Given the description of an element on the screen output the (x, y) to click on. 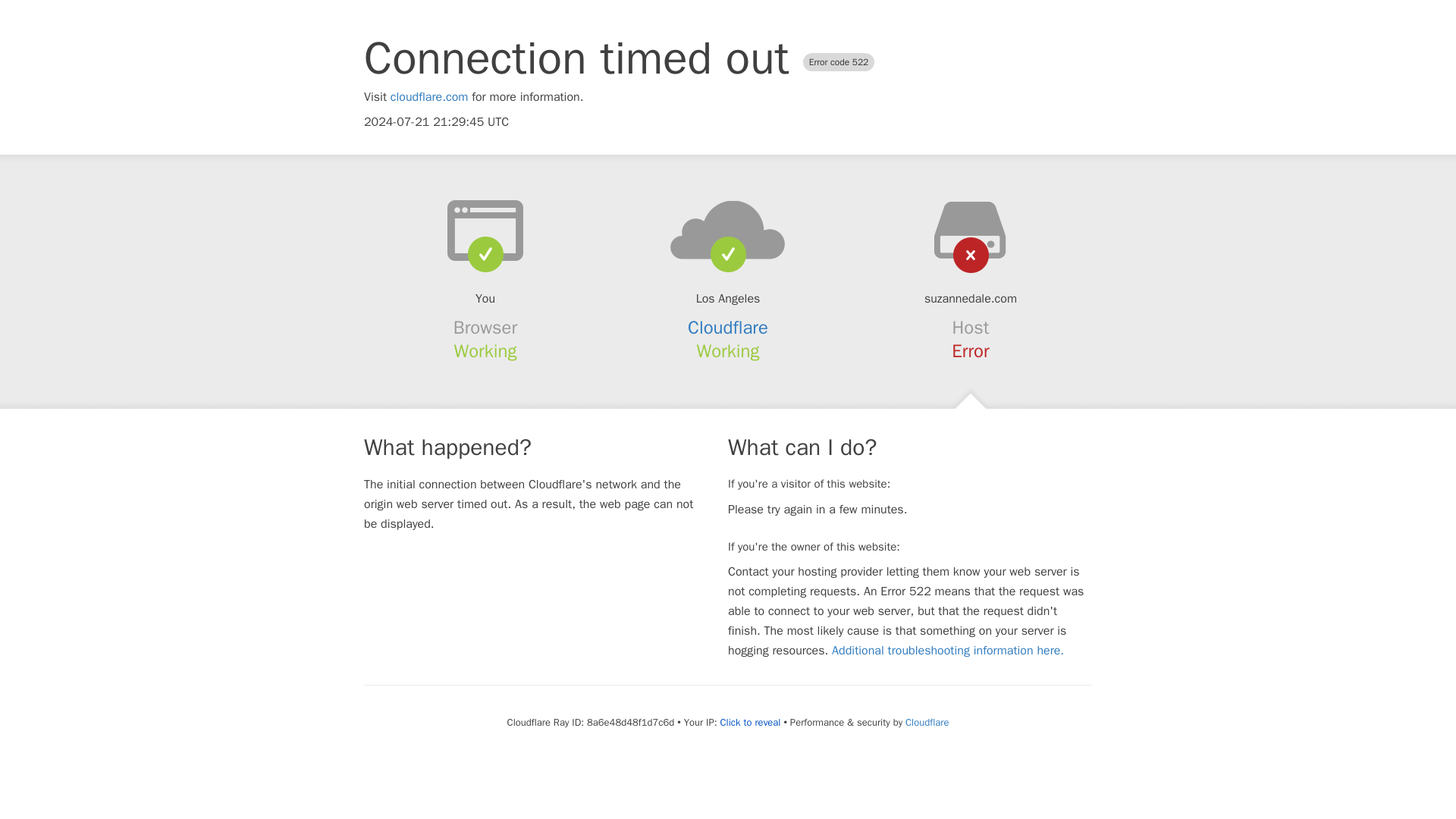
Cloudflare (927, 721)
Cloudflare (727, 327)
Additional troubleshooting information here. (947, 650)
Click to reveal (750, 722)
cloudflare.com (429, 96)
